Given the description of an element on the screen output the (x, y) to click on. 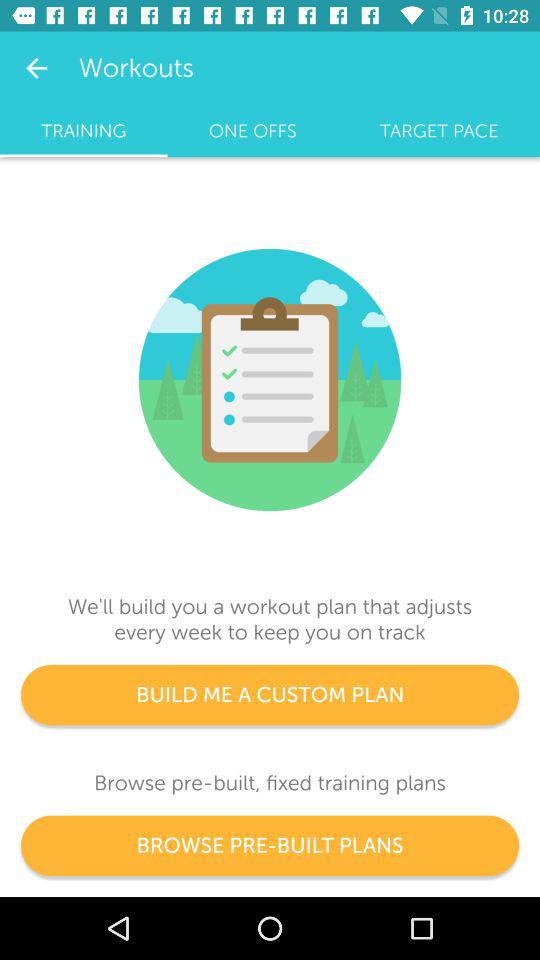
swipe to the one offs (252, 131)
